Given the description of an element on the screen output the (x, y) to click on. 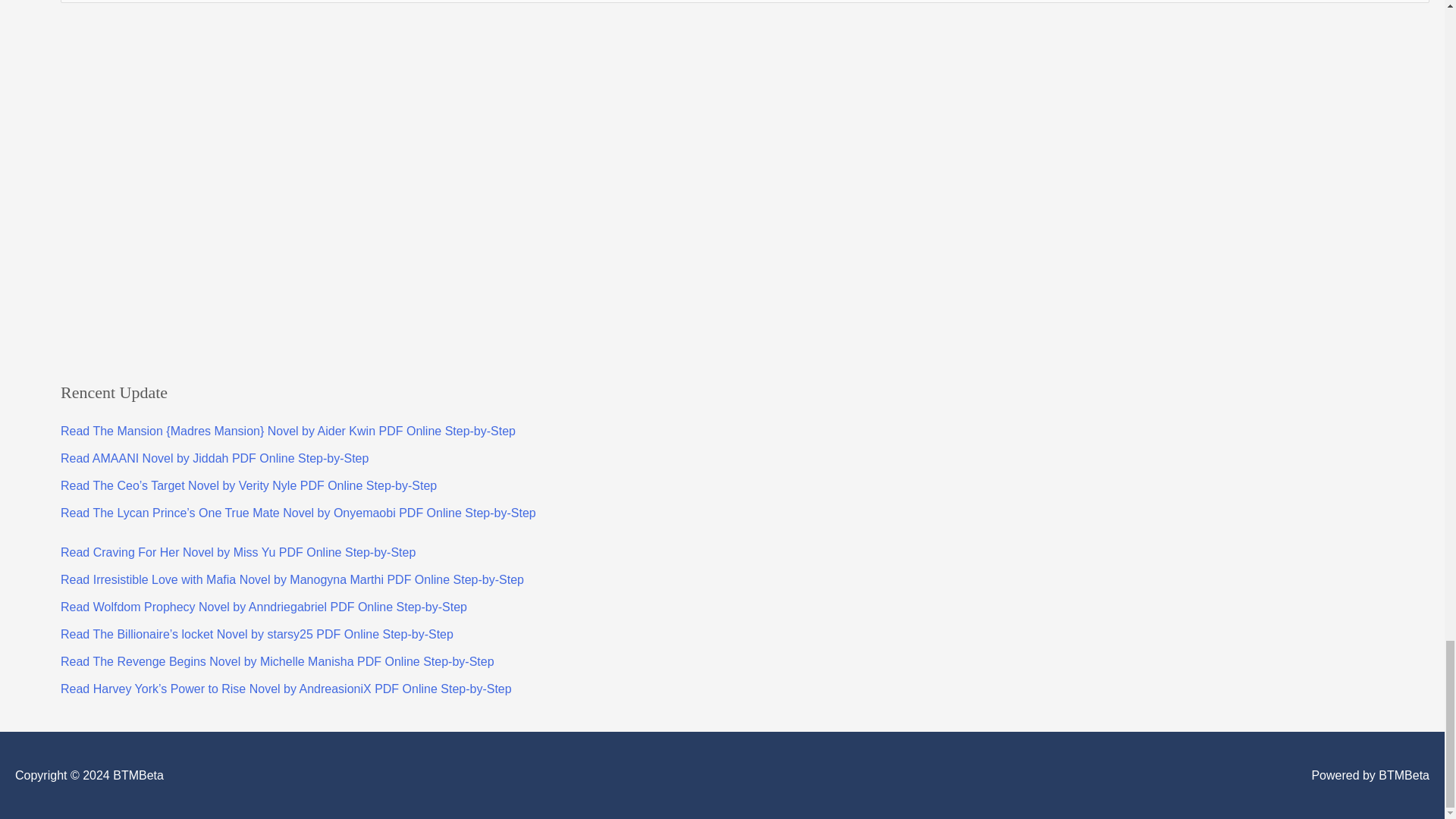
Search (1411, 6)
Search (1411, 6)
Search (1411, 6)
Read AMAANI Novel by Jiddah PDF Online Step-by-Step (214, 458)
